Given the description of an element on the screen output the (x, y) to click on. 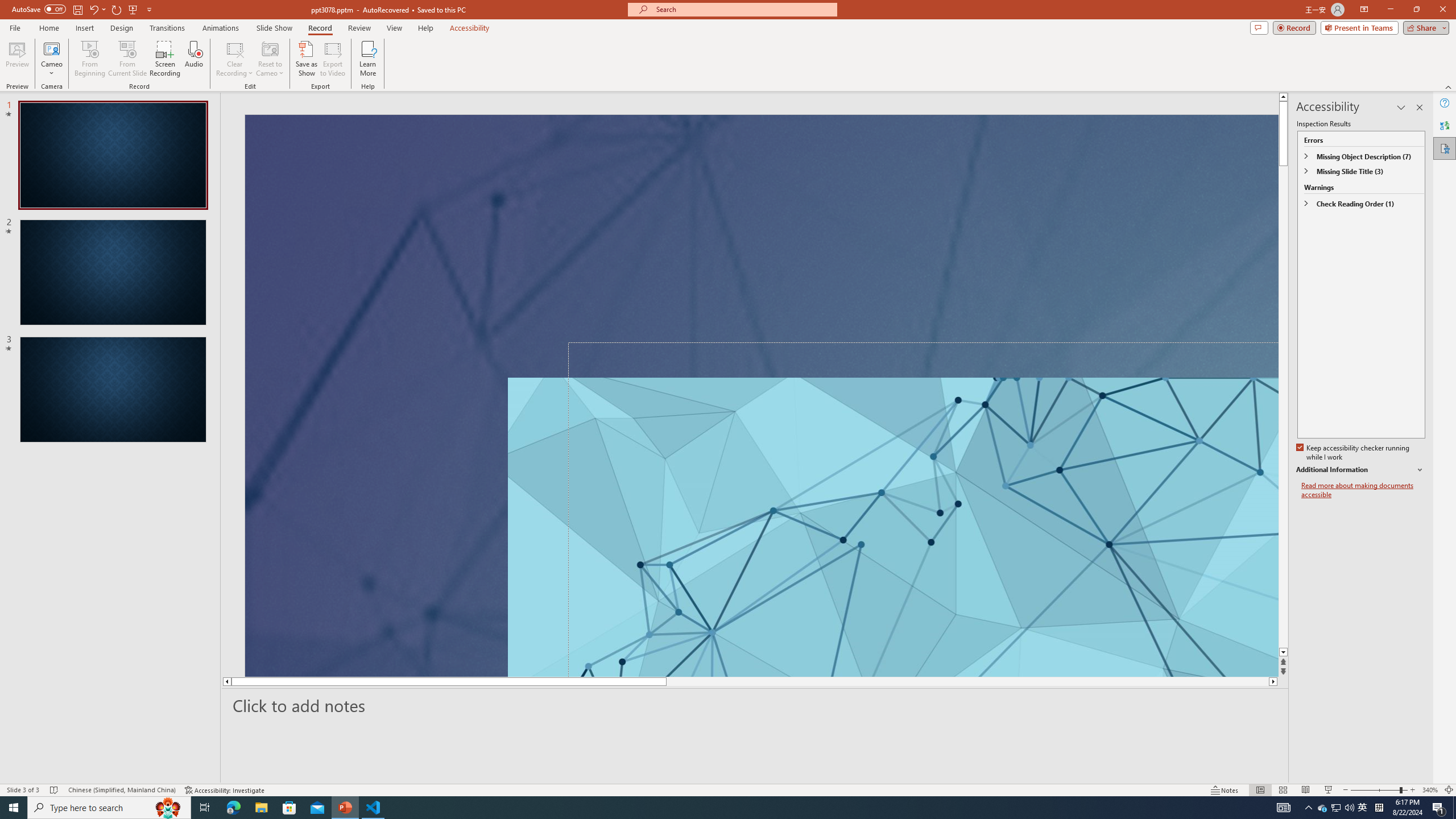
Zoom 340% (1430, 790)
